Given the description of an element on the screen output the (x, y) to click on. 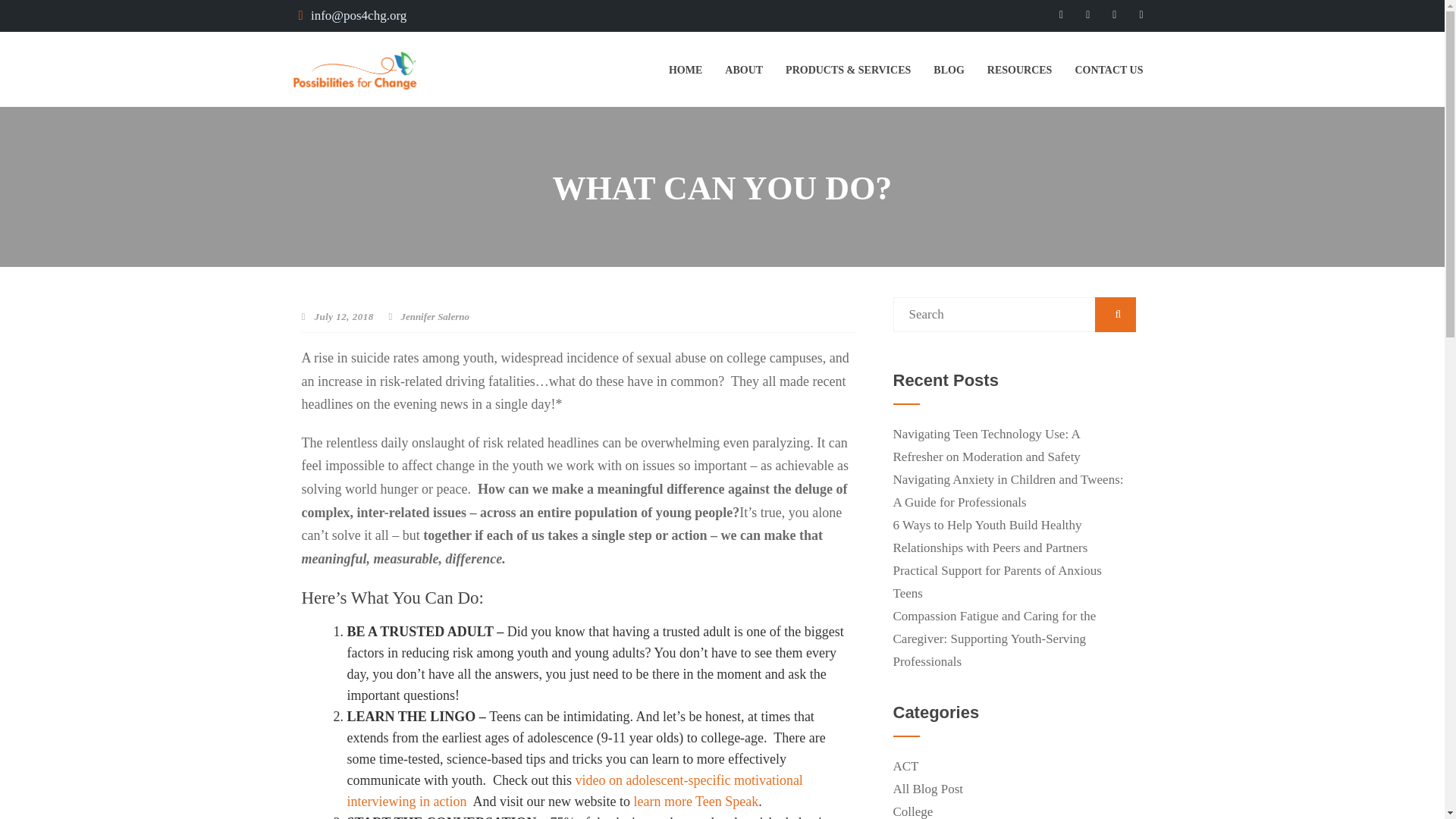
College (913, 807)
Contact Us (1108, 70)
July 12, 2018 (337, 317)
Resources (1019, 70)
Practical Support for Parents of Anxious Teens (997, 581)
All Blog Post (928, 788)
learn more Teen Speak (695, 801)
CONTACT US (1108, 70)
RESOURCES (1019, 70)
